Given the description of an element on the screen output the (x, y) to click on. 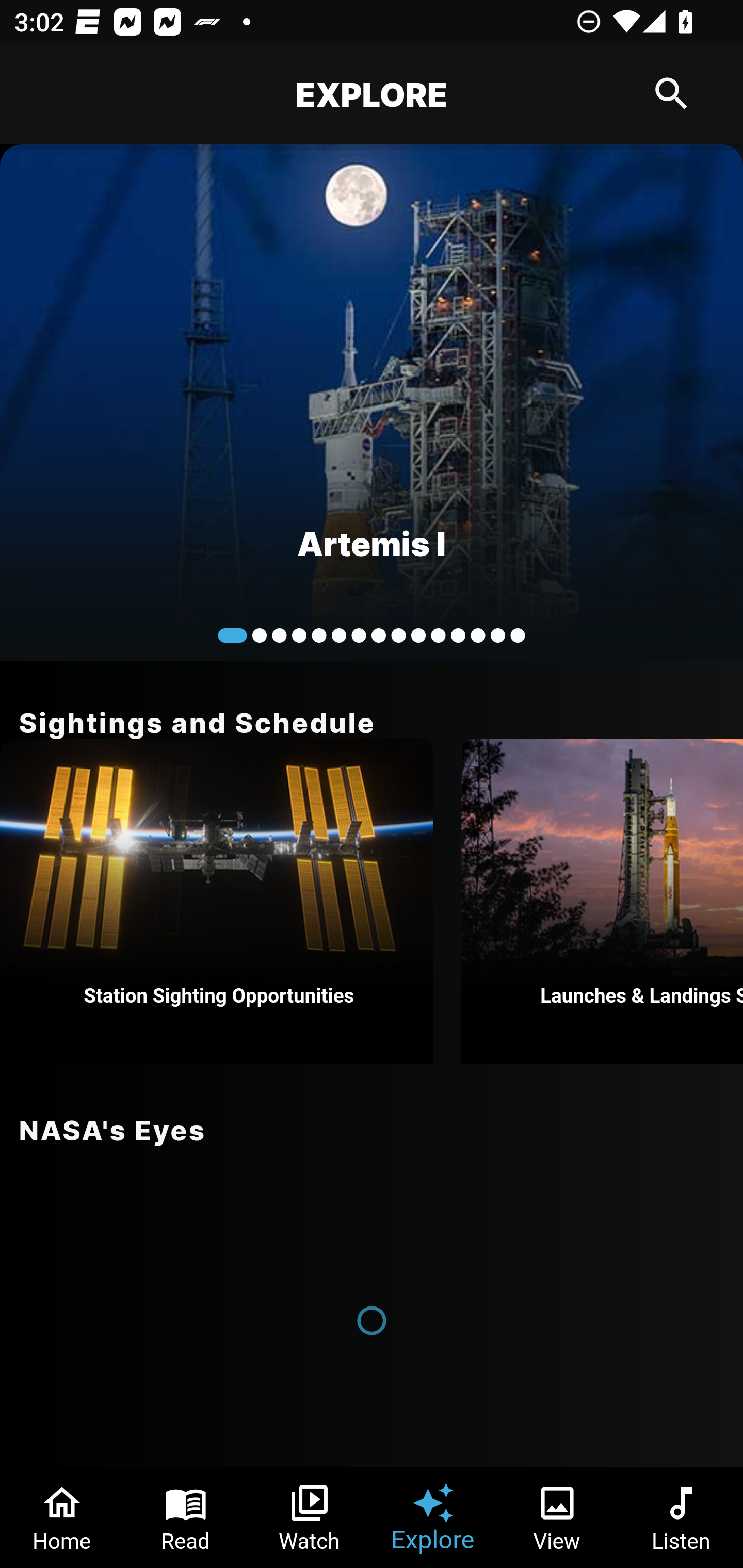
Artemis I
Hello World (371, 402)
Station Sighting Opportunities (216, 900)
Launches & Landings Schedule (601, 900)
Home
Tab 1 of 6 (62, 1517)
Read
Tab 2 of 6 (185, 1517)
Watch
Tab 3 of 6 (309, 1517)
Explore
Tab 4 of 6 (433, 1517)
View
Tab 5 of 6 (556, 1517)
Listen
Tab 6 of 6 (680, 1517)
